Given the description of an element on the screen output the (x, y) to click on. 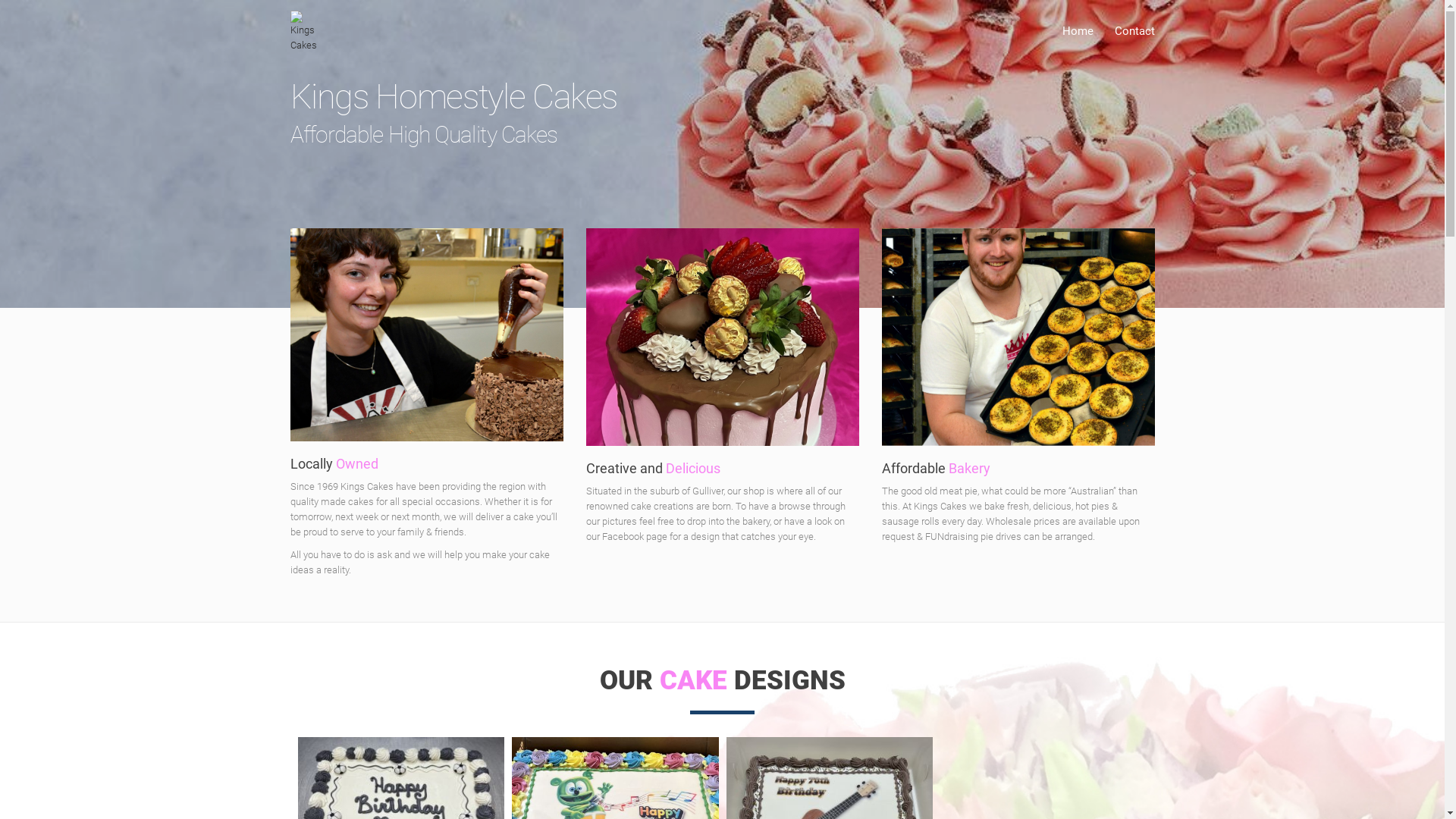
Home Element type: text (1077, 31)
Contact Element type: text (1129, 31)
